Given the description of an element on the screen output the (x, y) to click on. 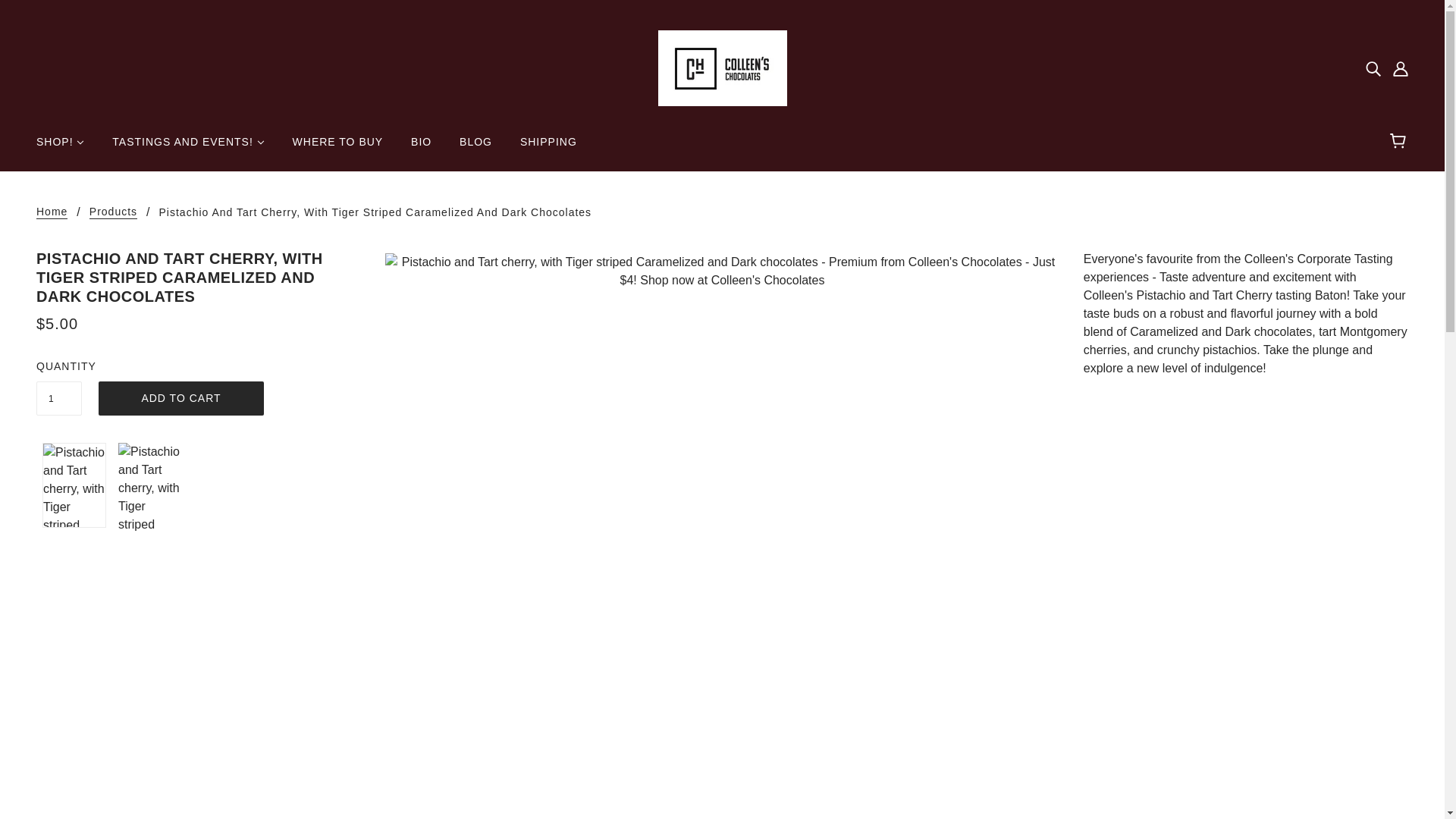
1 (58, 398)
SHIPPING (548, 147)
SHOP! (60, 147)
Colleen's Chocolates (722, 66)
BLOG (474, 147)
TASTINGS AND EVENTS! (188, 147)
BIO (421, 147)
WHERE TO BUY (338, 147)
